Given the description of an element on the screen output the (x, y) to click on. 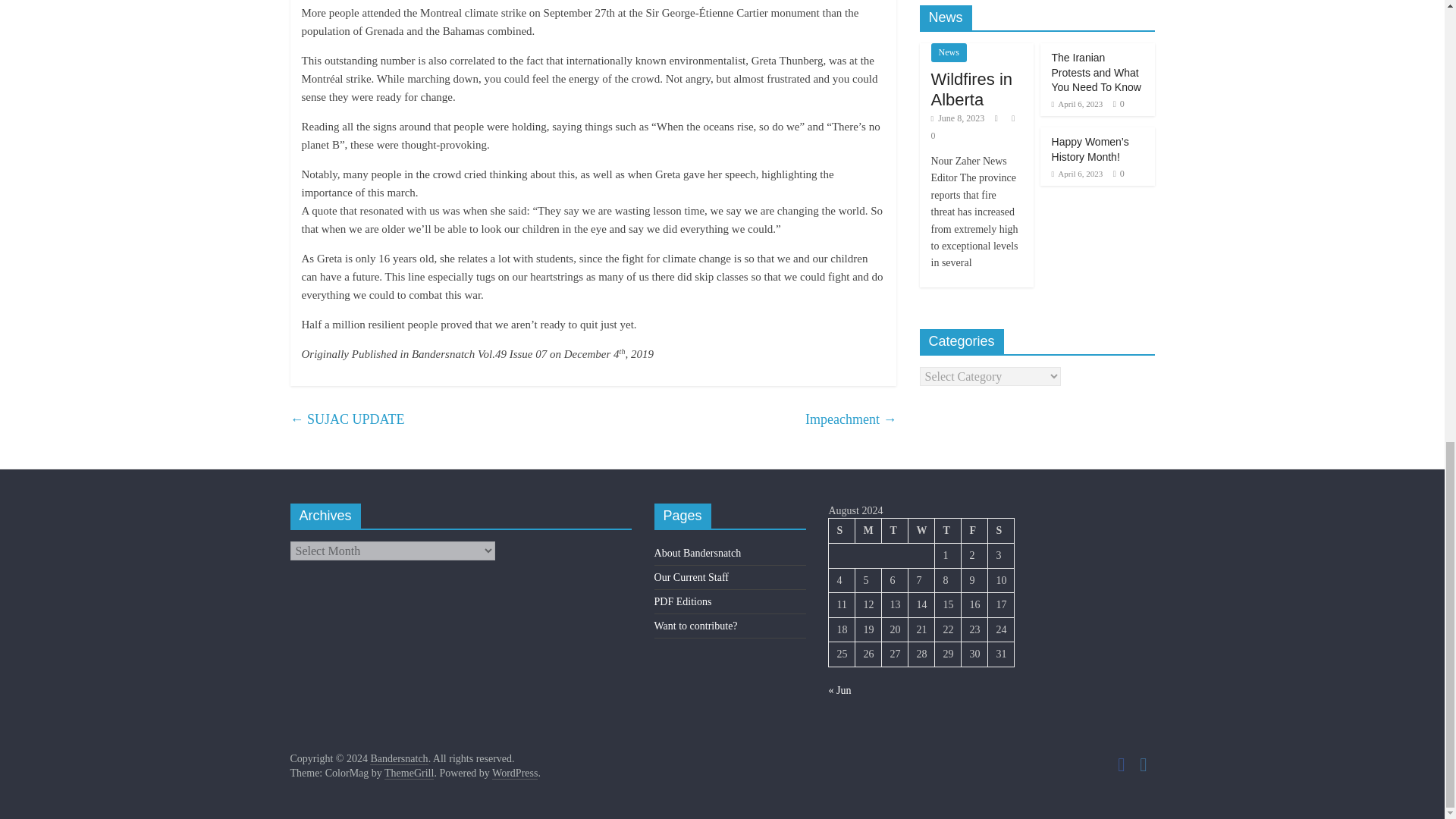
8:30 am (1077, 103)
Wildfires in Alberta (972, 88)
The Iranian Protests and What You Need To Know (1096, 72)
8:30 am (1077, 173)
9:34 am (958, 118)
